Given the description of an element on the screen output the (x, y) to click on. 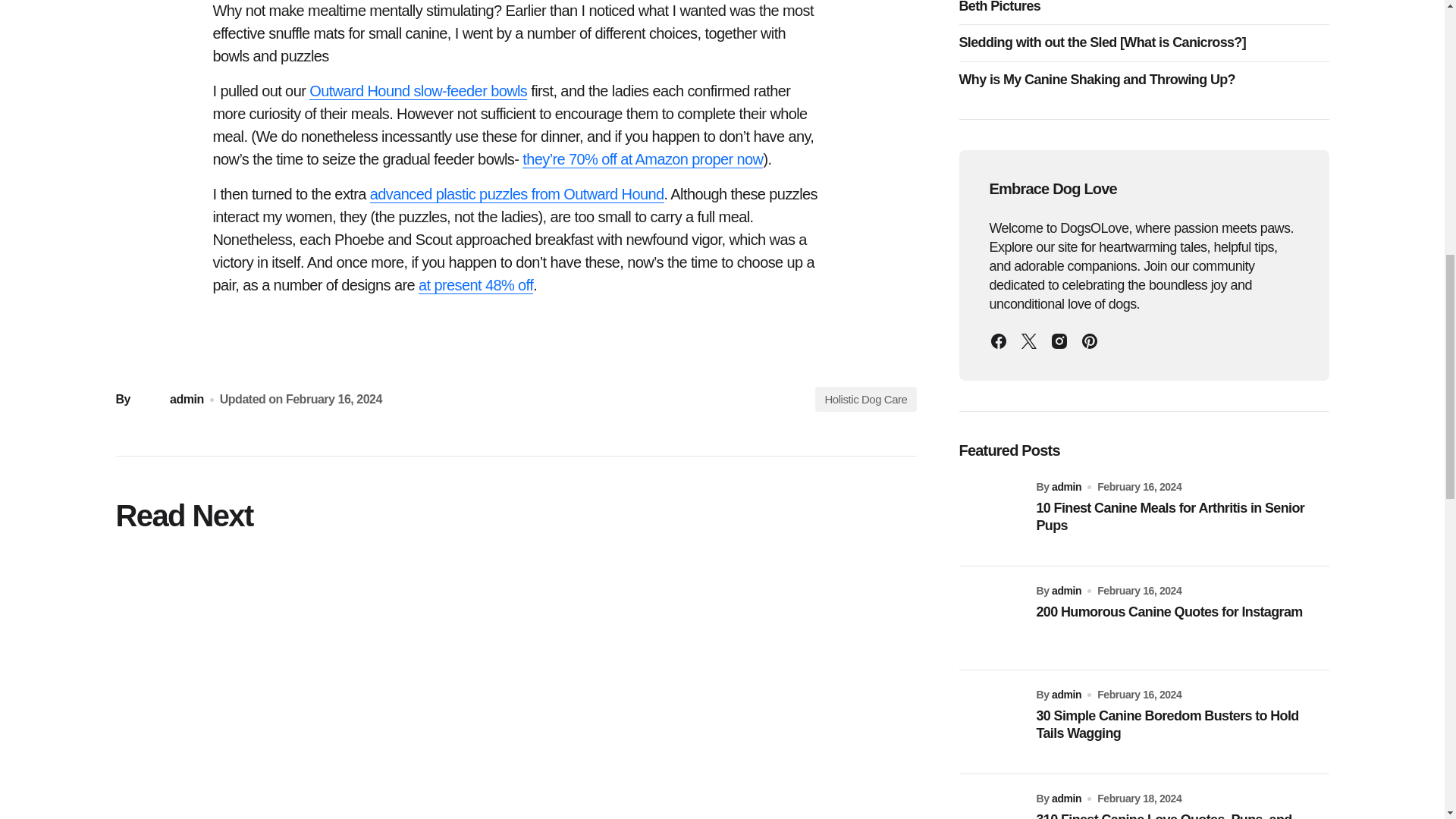
Holistic Dog Care (865, 398)
Facebook (997, 340)
Twitter (1028, 340)
Outward Hound slow-feeder bowls (417, 90)
Instagram (1058, 340)
admin (168, 399)
advanced plastic puzzles from Outward Hound (516, 194)
Pinterest (1088, 340)
